Given the description of an element on the screen output the (x, y) to click on. 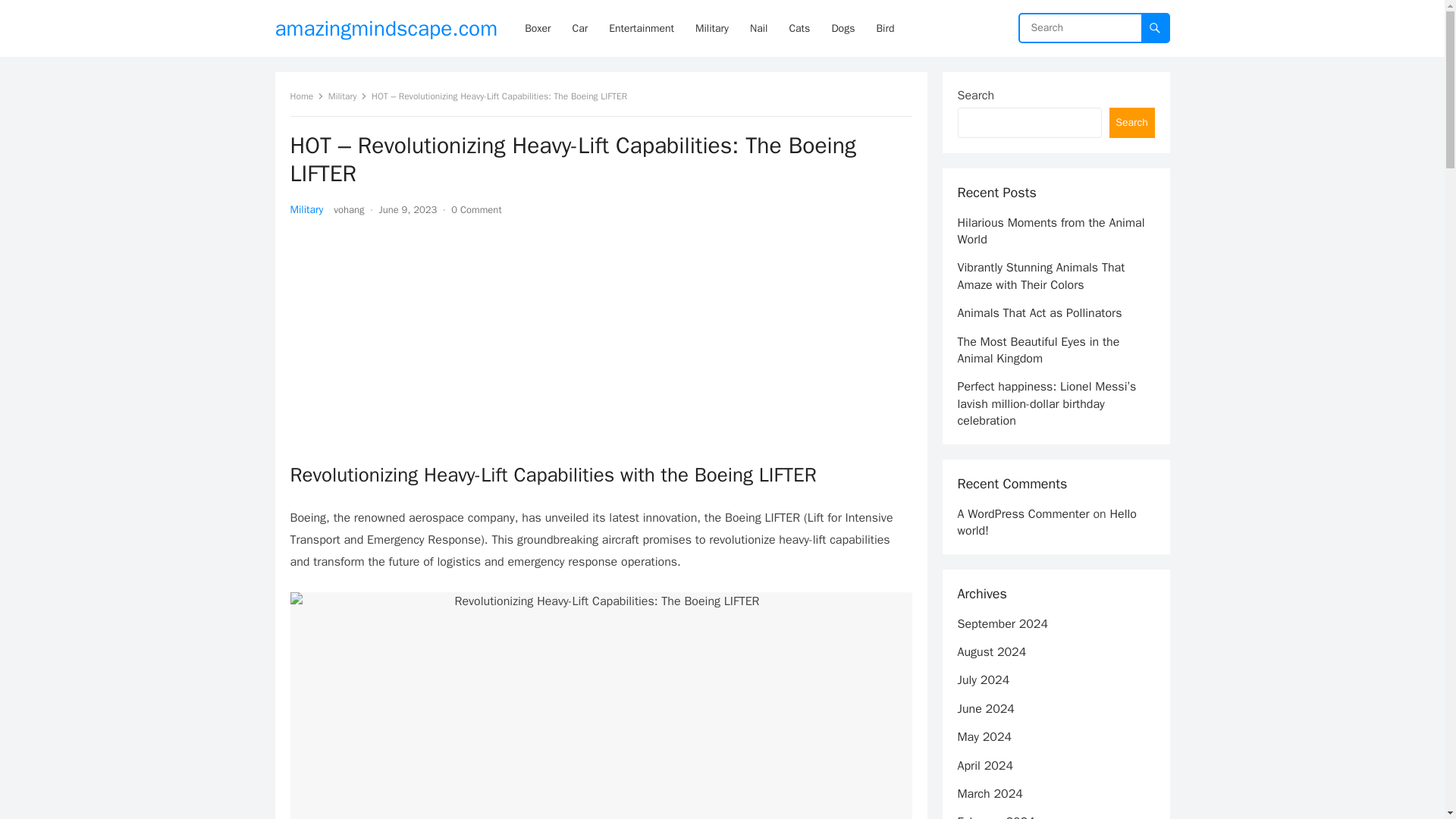
0 Comment (475, 209)
Military (348, 96)
Home (306, 96)
Entertainment (640, 28)
amazingmindscape.com (386, 28)
Posts by vohang (348, 209)
vohang (348, 209)
Military (711, 28)
Military (306, 209)
